Given the description of an element on the screen output the (x, y) to click on. 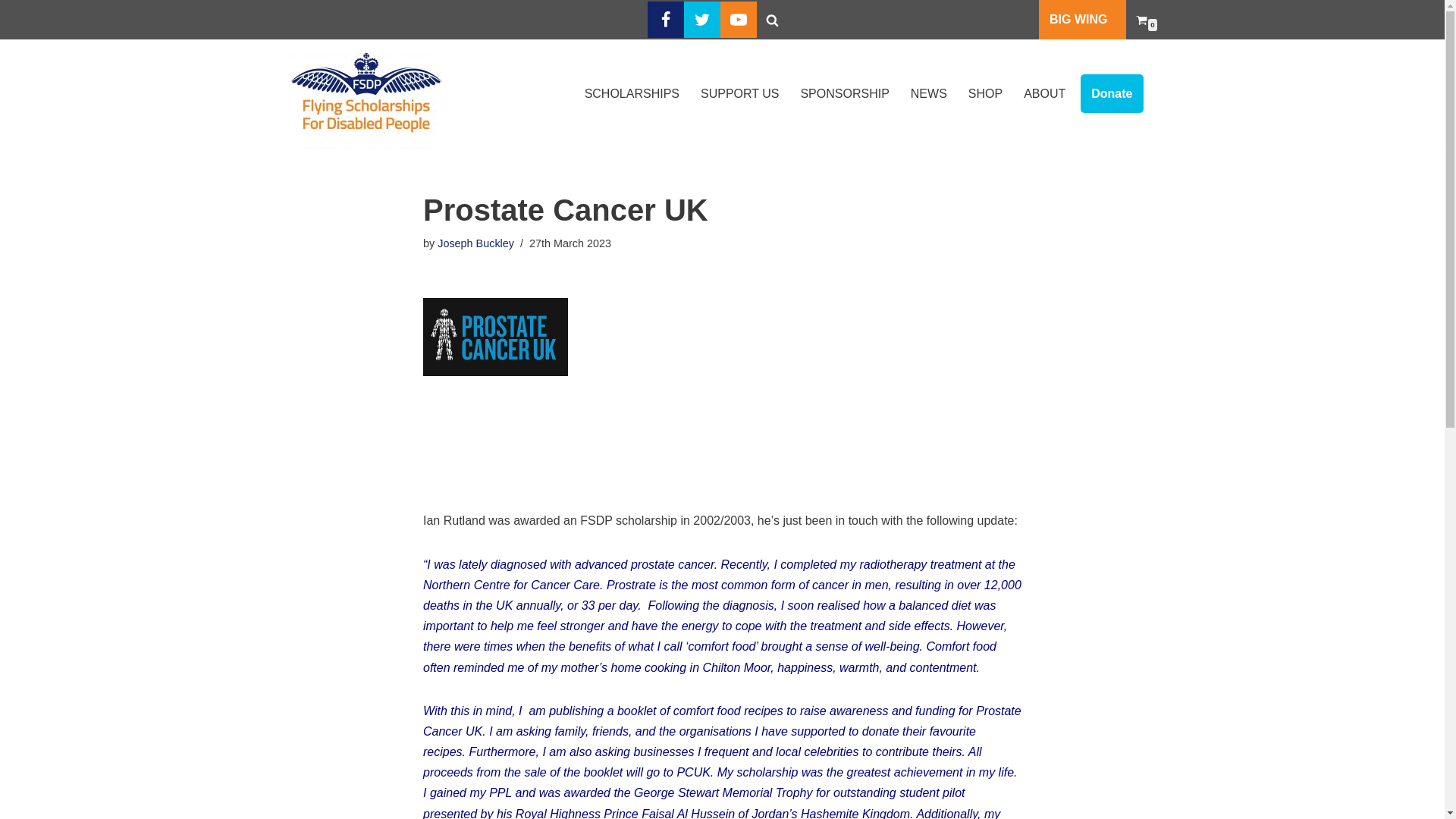
NEWS (929, 93)
Posts by Joseph Buckley (475, 243)
Youtube (738, 19)
0 (1141, 19)
Skip to content (11, 31)
SUPPORT US (739, 93)
Joseph Buckley (475, 243)
SCHOLARSHIPS (632, 93)
Donate (1111, 93)
ABOUT (1044, 93)
